Given the description of an element on the screen output the (x, y) to click on. 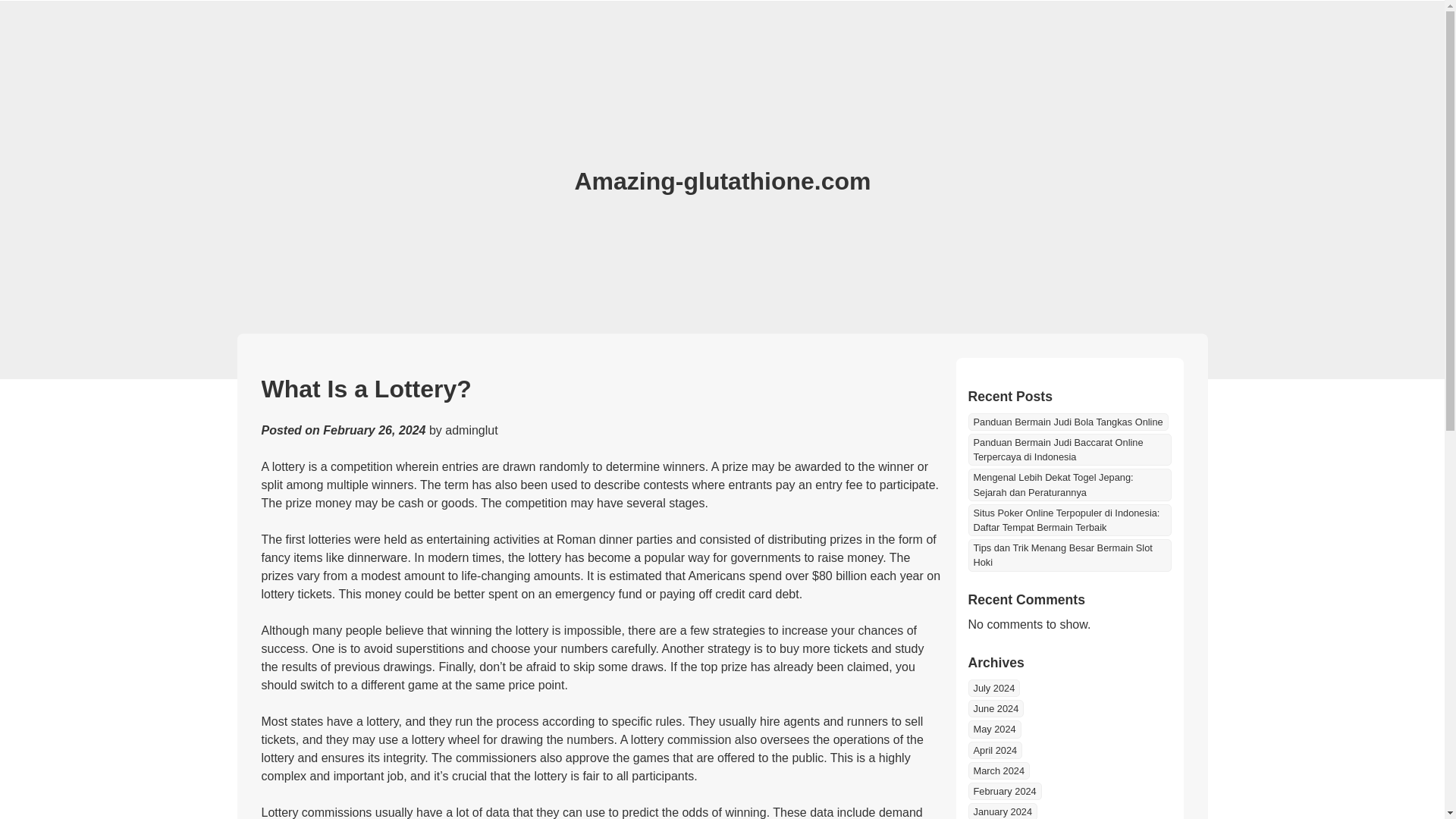
April 2024 (995, 750)
Panduan Bermain Judi Baccarat Online Terpercaya di Indonesia (1069, 450)
May 2024 (994, 728)
Tips dan Trik Menang Besar Bermain Slot Hoki (1069, 554)
February 2024 (1004, 791)
Panduan Bermain Judi Bola Tangkas Online (1067, 421)
March 2024 (998, 770)
February 26, 2024 (374, 430)
January 2024 (1002, 811)
adminglut (471, 430)
July 2024 (994, 687)
June 2024 (995, 708)
Mengenal Lebih Dekat Togel Jepang: Sejarah dan Peraturannya (1069, 484)
